Given the description of an element on the screen output the (x, y) to click on. 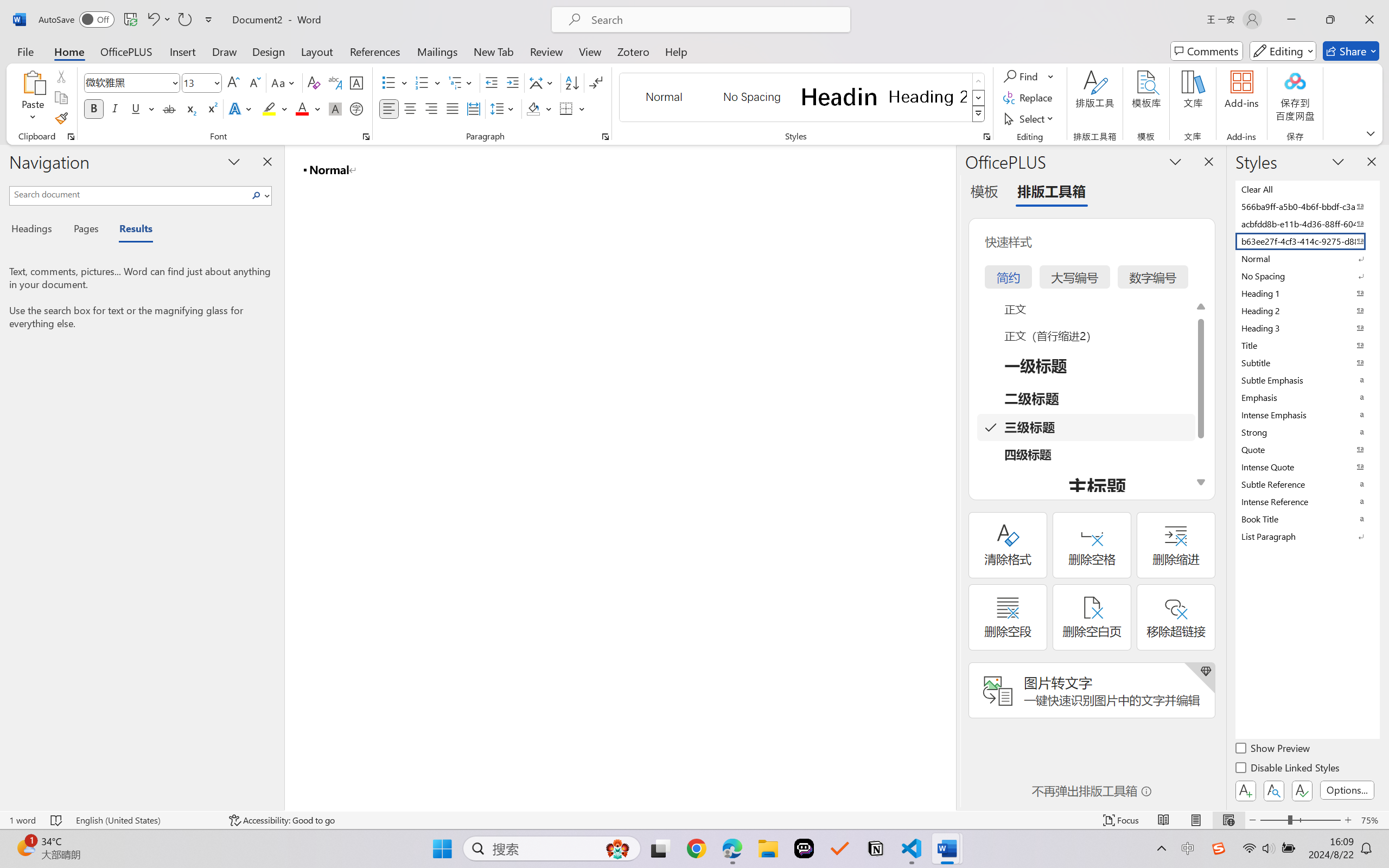
Shading (539, 108)
Show Preview (1273, 749)
Quick Access Toolbar (127, 19)
Numbering (421, 82)
Class: NetUIButton (1301, 790)
Strong (1306, 431)
View (589, 51)
Row up (978, 81)
Home (69, 51)
AutoSave (76, 19)
